Given the description of an element on the screen output the (x, y) to click on. 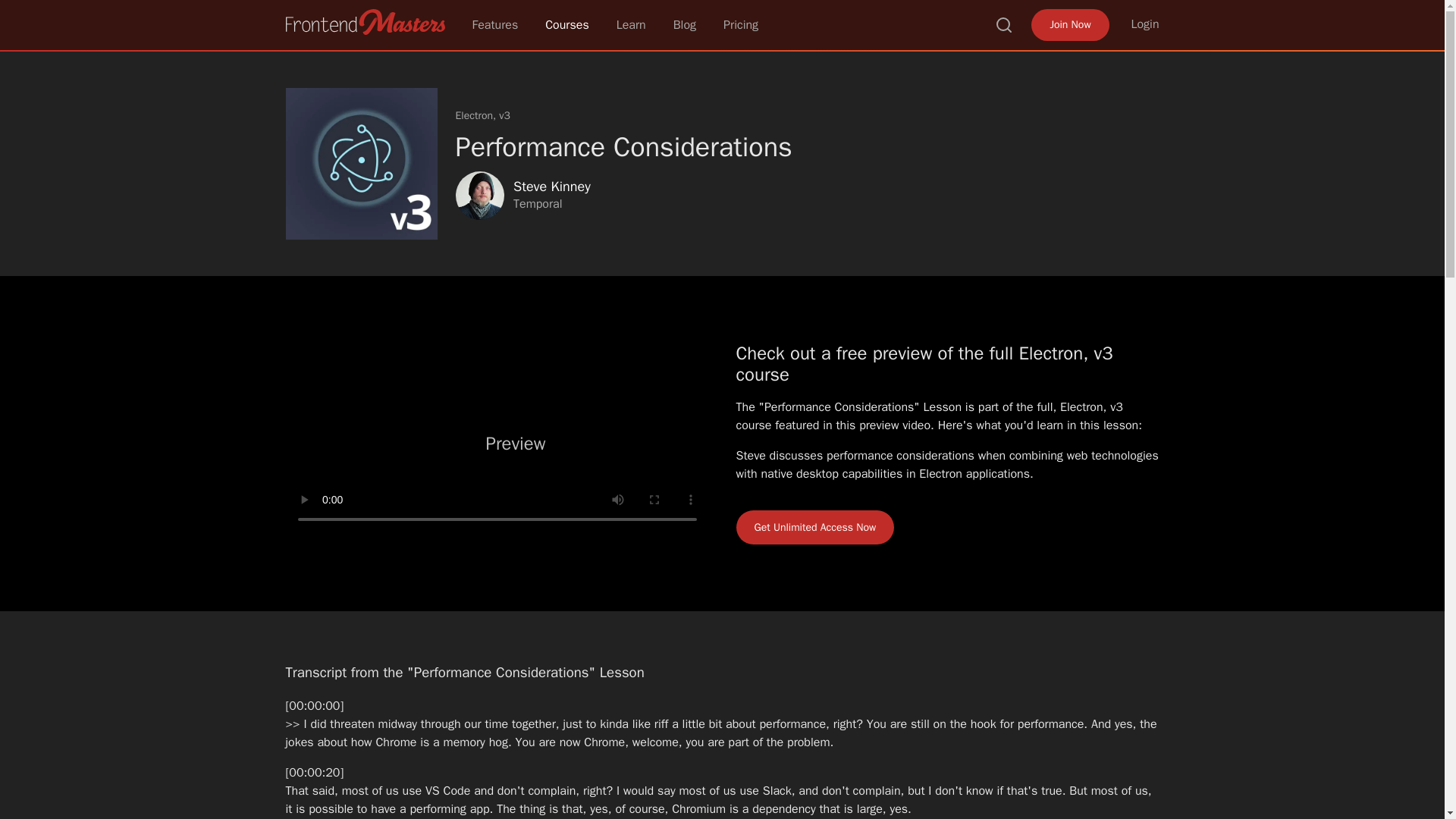
Search (1003, 24)
Login (1144, 24)
Blog (683, 24)
FrontendMasters (364, 22)
Features (494, 24)
Get Unlimited Access Now (814, 527)
Join Now (1069, 24)
Steve Kinney (478, 195)
Pricing (740, 24)
Courses (566, 24)
Steve Kinney (550, 186)
Electron, v3 (481, 115)
Learn (630, 24)
